Given the description of an element on the screen output the (x, y) to click on. 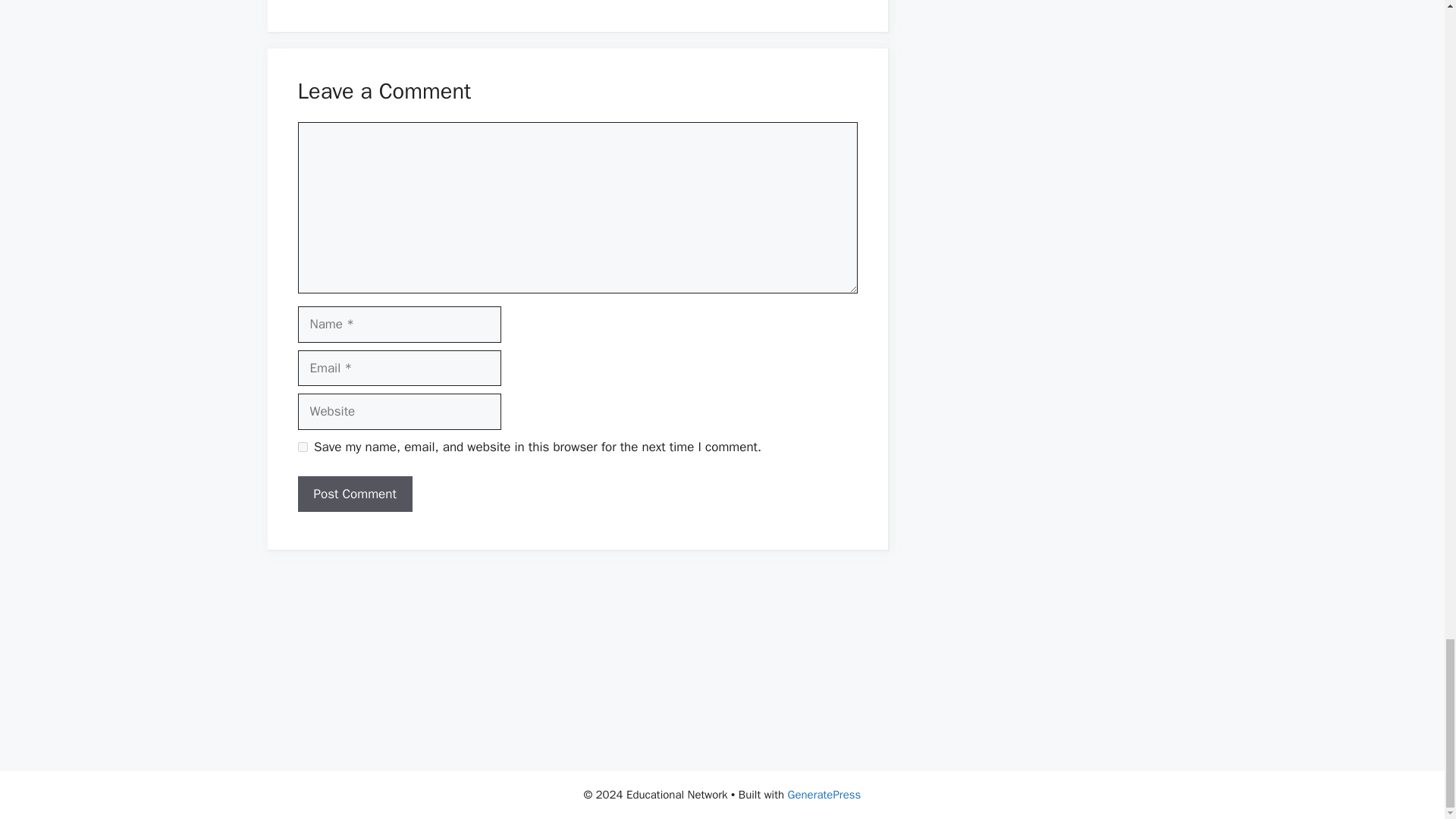
yes (302, 447)
GeneratePress (824, 794)
Post Comment (354, 493)
Post Comment (354, 493)
